Given the description of an element on the screen output the (x, y) to click on. 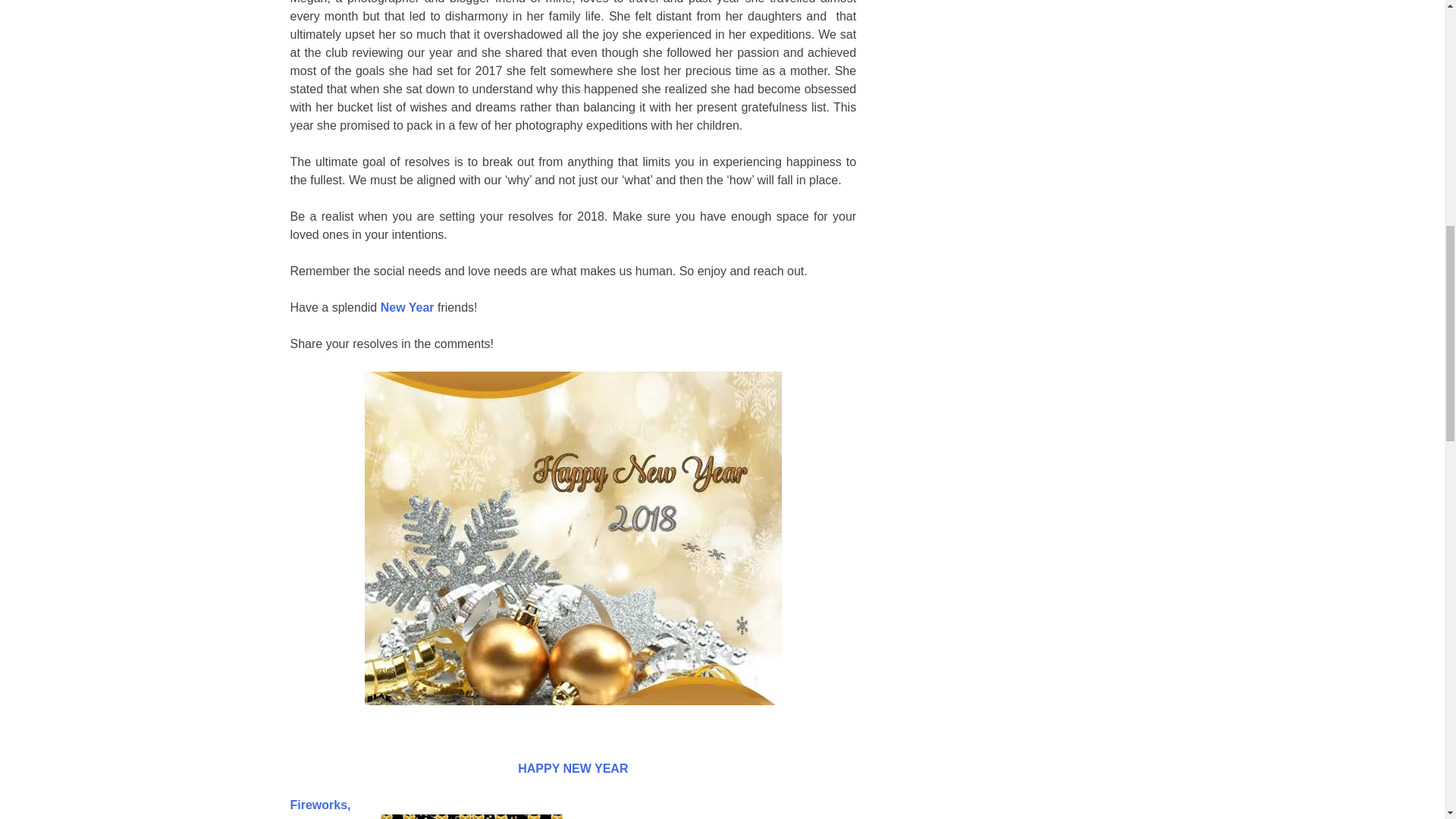
New Year (406, 307)
